Given the description of an element on the screen output the (x, y) to click on. 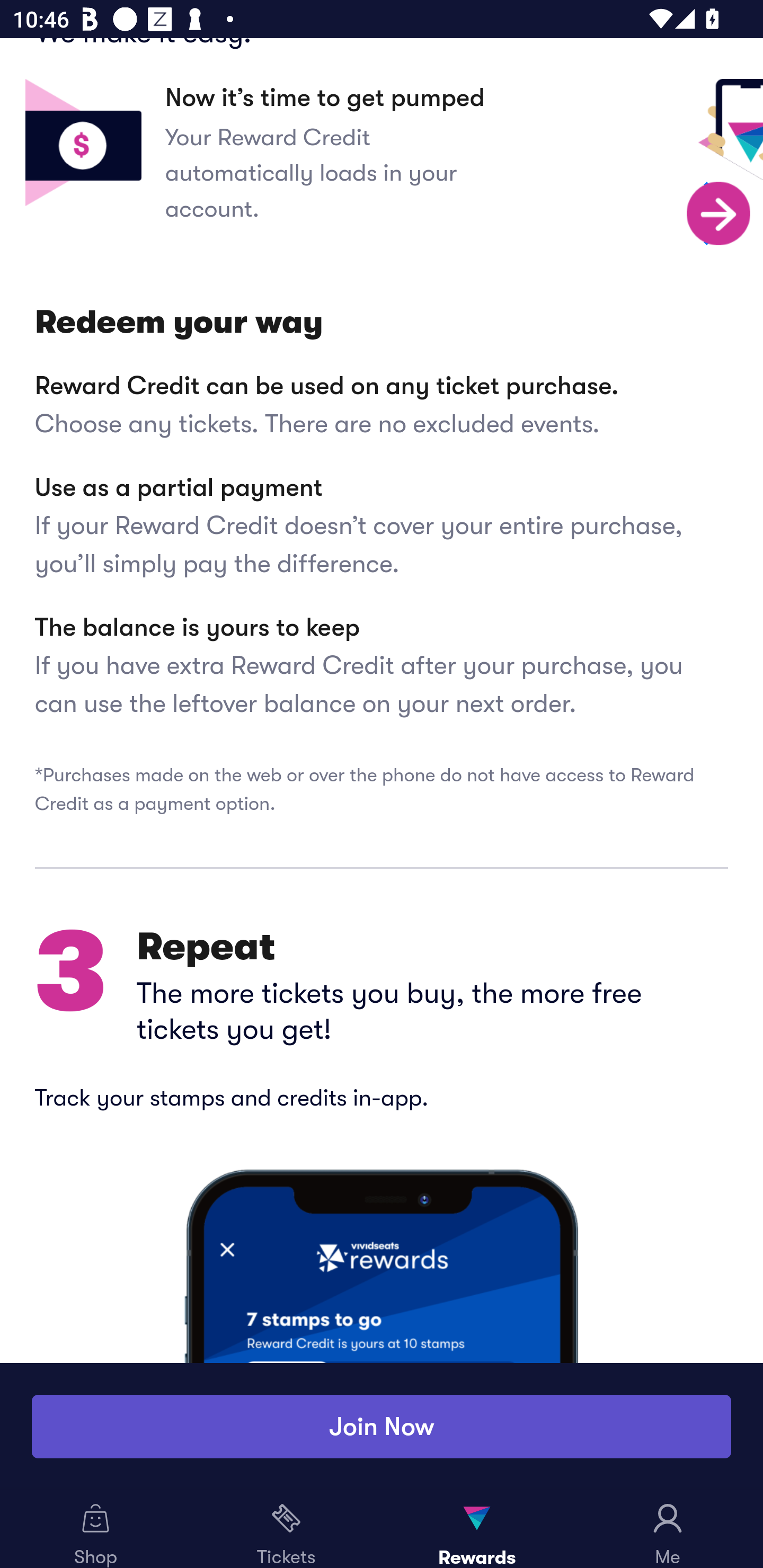
Next slide (718, 215)
Join Now (381, 1426)
Shop (95, 1529)
Tickets (285, 1529)
Rewards (476, 1529)
Me (667, 1529)
